Given the description of an element on the screen output the (x, y) to click on. 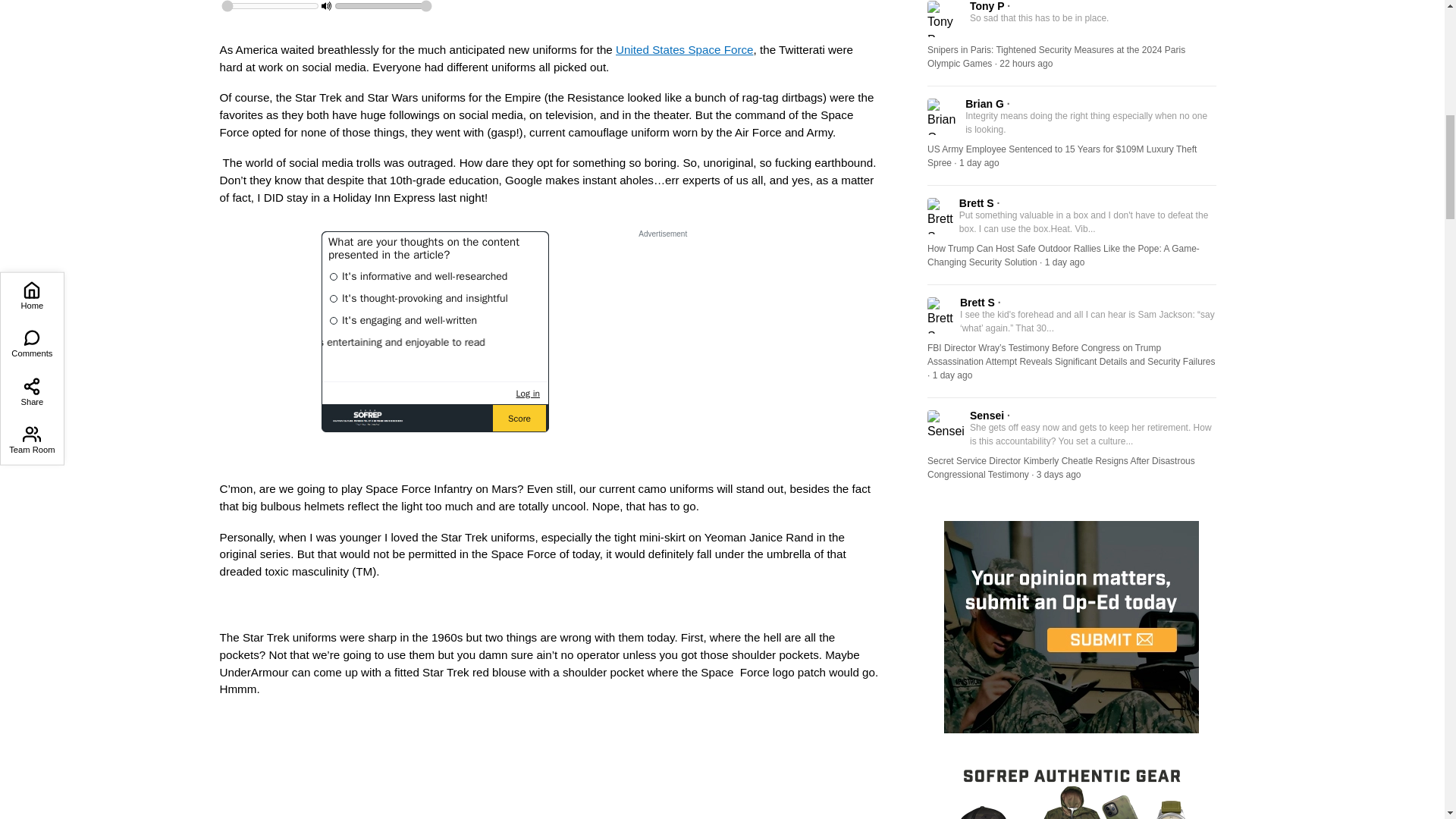
3rd party ad content (662, 337)
Vuukle Quiz Widget (434, 331)
Advertisement (549, 770)
